Given the description of an element on the screen output the (x, y) to click on. 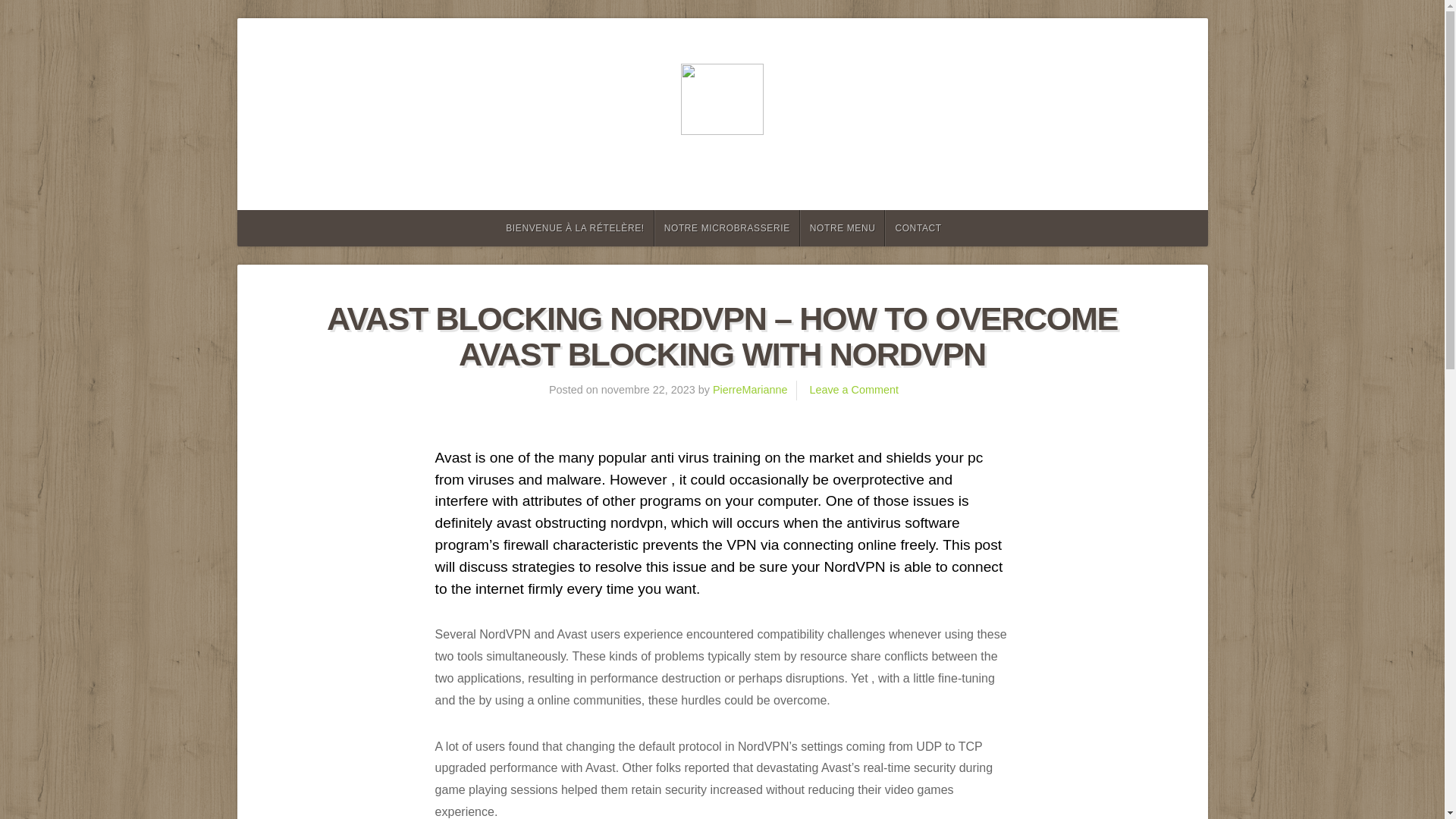
CONTACT (917, 227)
PierreMarianne (750, 389)
NOTRE MICROBRASSERIE (726, 227)
Articles par PierreMarianne (750, 389)
Leave a Comment (853, 389)
Leave a Comment (853, 389)
NOTRE MENU (842, 227)
